Given the description of an element on the screen output the (x, y) to click on. 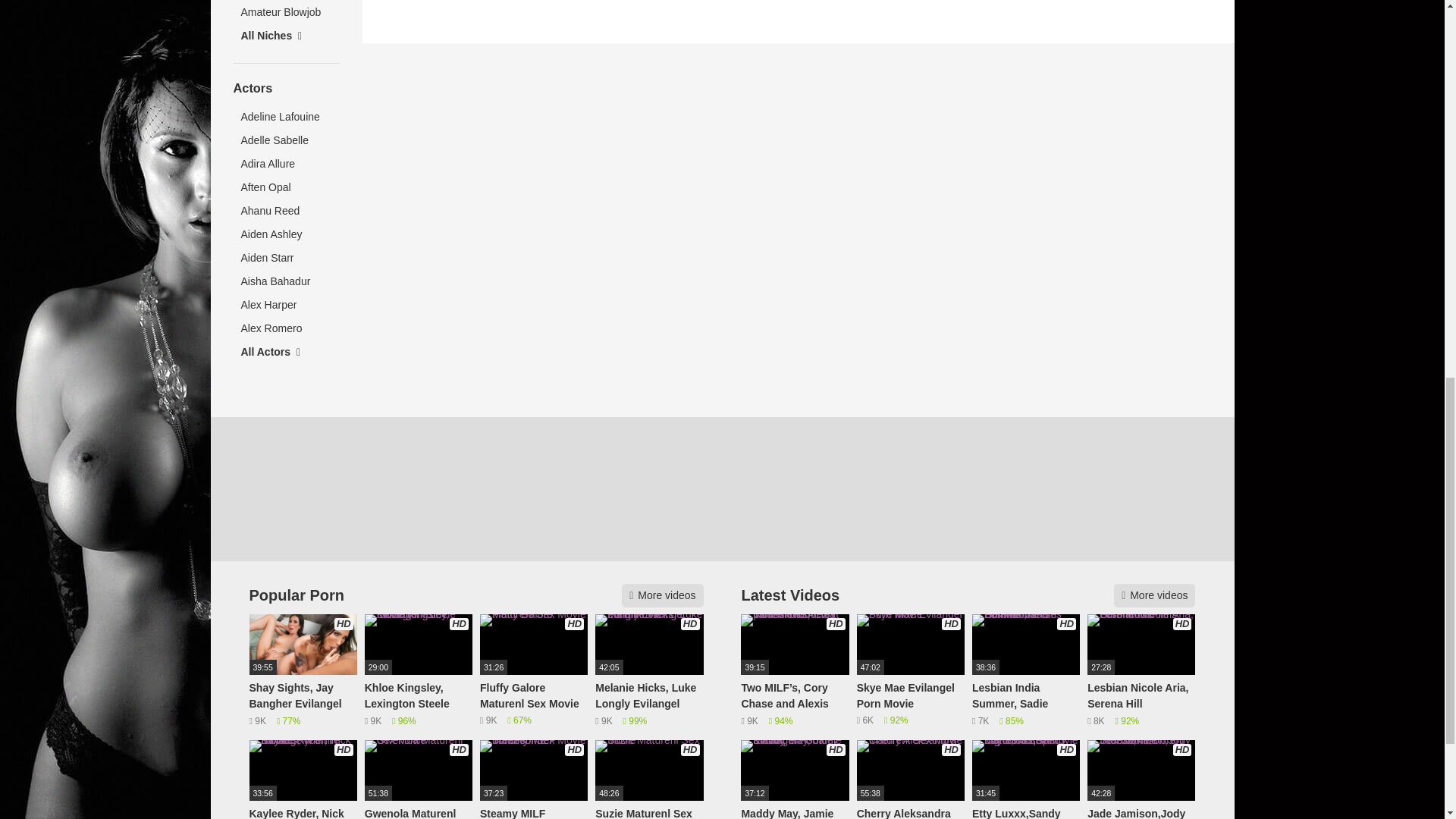
Adira Allure (285, 164)
Adelle Sabelle (285, 140)
Khloe Kingsley, Lexington Steele Evilangel Porn Movie (418, 671)
All Niches (285, 35)
Amateur Blowjob (285, 12)
Gwenola Maturenl Sex Movie (418, 779)
Suzie Maturenl Sex Movie (649, 779)
Fluffy Galore Maturenl Sex Movie (534, 671)
Steamy MILF Threesome Maturenl Sex Movie (534, 779)
Shay Sights, Jay Bangher Evilangel Porn Movie (302, 671)
Adeline Lafouine (285, 116)
Melanie Hicks, Luke Longly Evilangel Porn Movie (649, 671)
Kaylee Ryder, Nick Strokes, Will Tile Evilangel Porn Movie (302, 779)
All actors (285, 351)
